Given the description of an element on the screen output the (x, y) to click on. 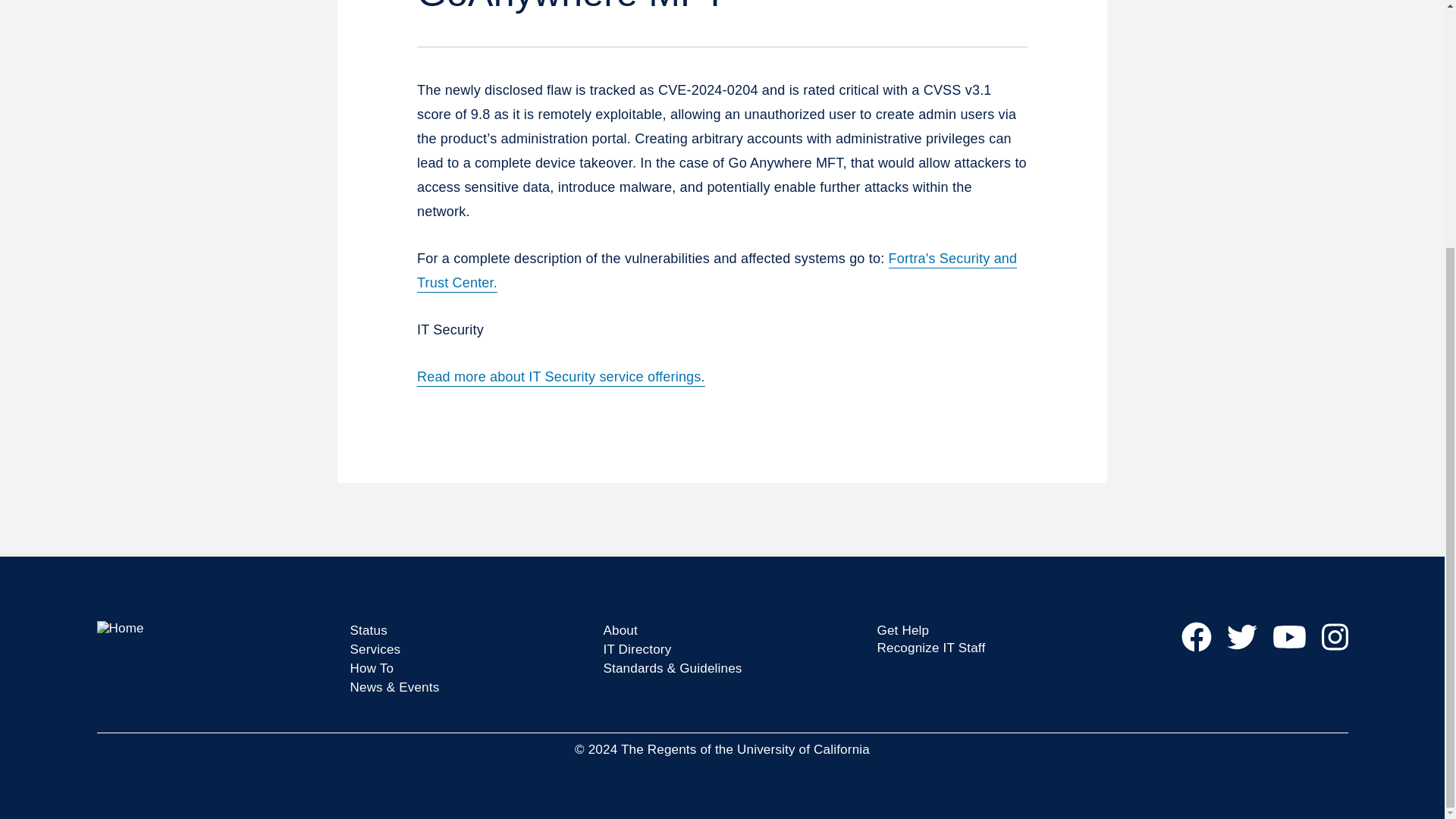
Services (375, 649)
About (620, 630)
Read more about IT Security service offerings. (560, 376)
Fortra's Security and Trust Center (716, 270)
Get Help (902, 630)
Home (215, 628)
Recognize IT Staff (930, 647)
How To (372, 667)
IT Directory (637, 649)
Status (368, 630)
